Given the description of an element on the screen output the (x, y) to click on. 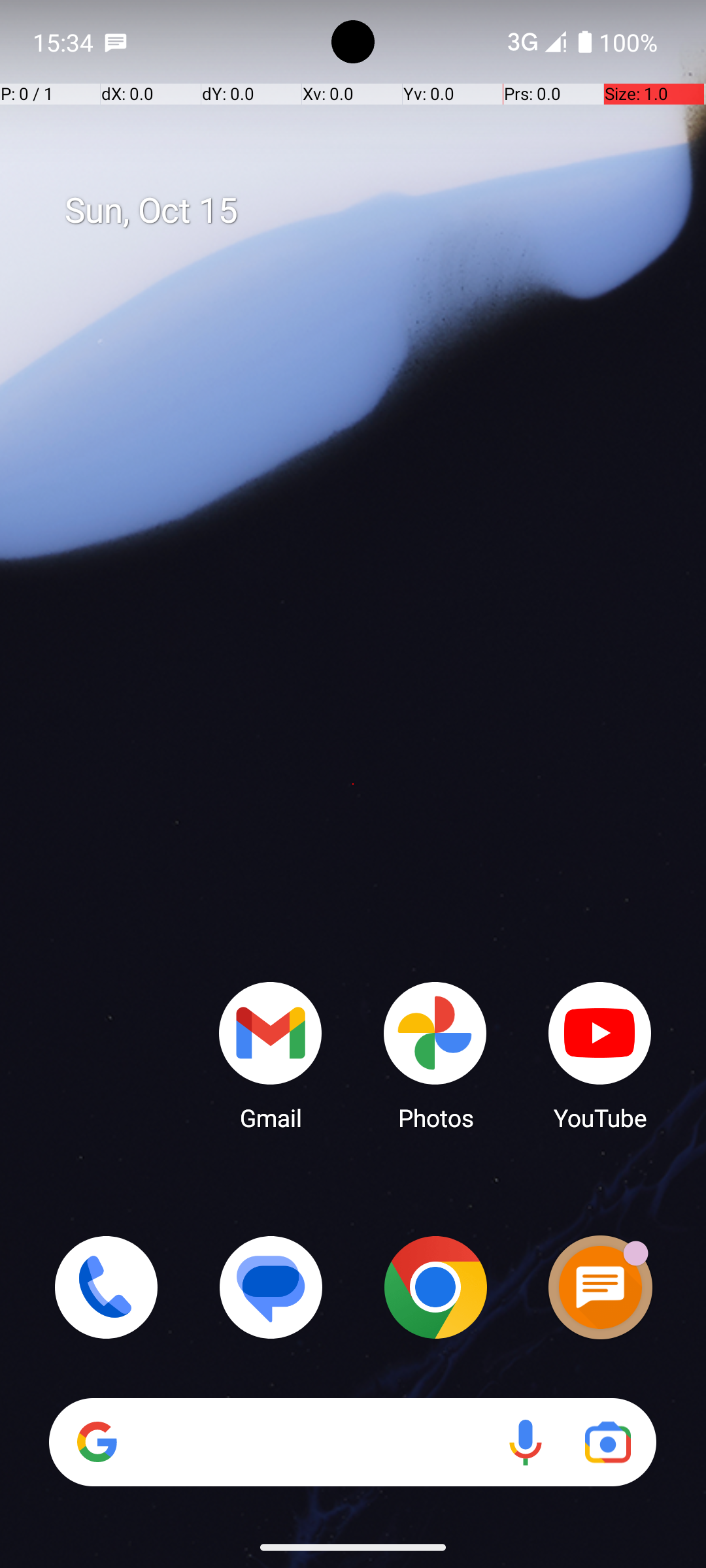
SMS Messenger Element type: android.widget.TextView (599, 1287)
